Given the description of an element on the screen output the (x, y) to click on. 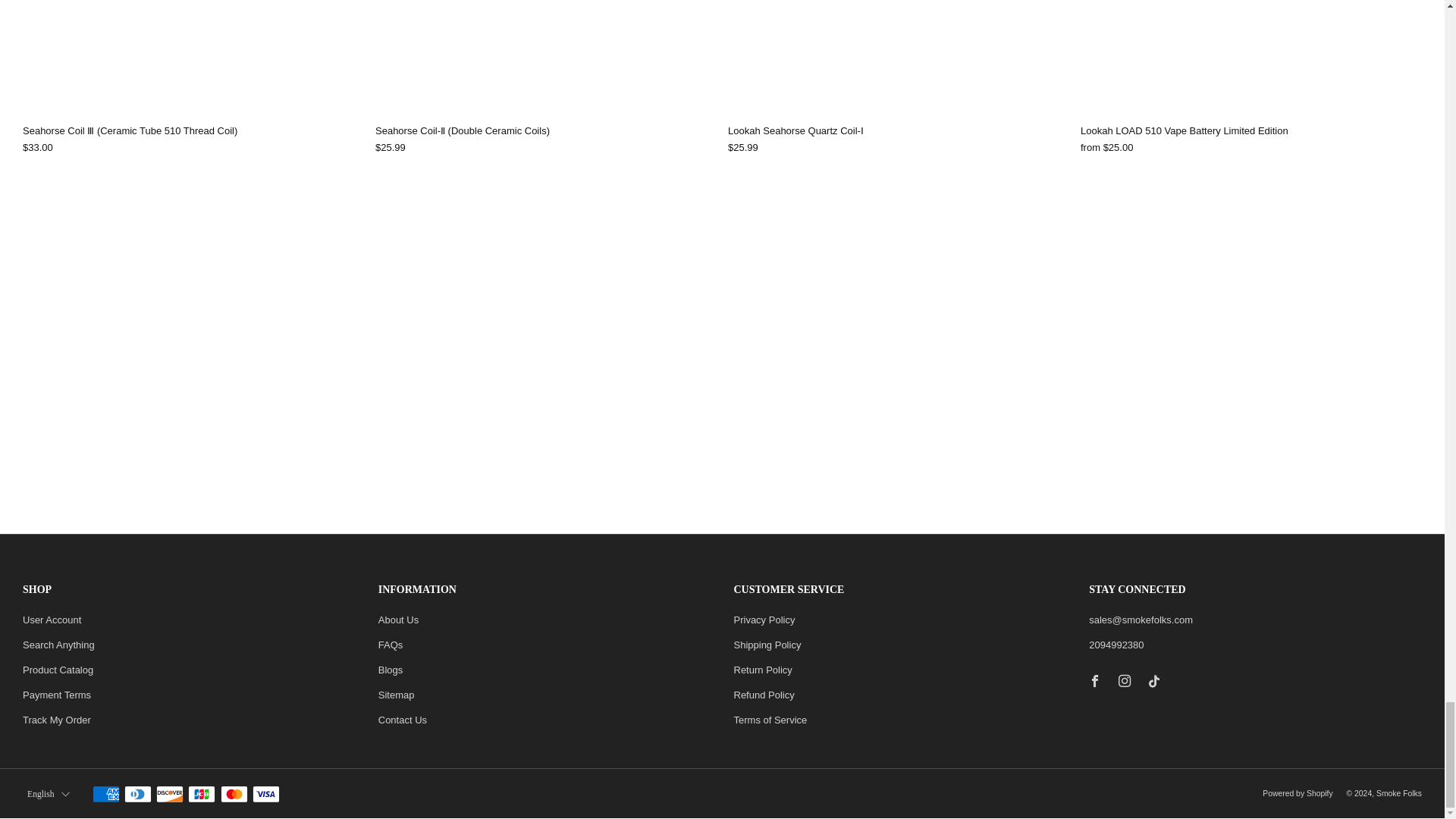
American Express (106, 794)
Visa (265, 794)
Discover (169, 794)
Diners Club (137, 794)
Mastercard (234, 794)
JCB (201, 794)
